Given the description of an element on the screen output the (x, y) to click on. 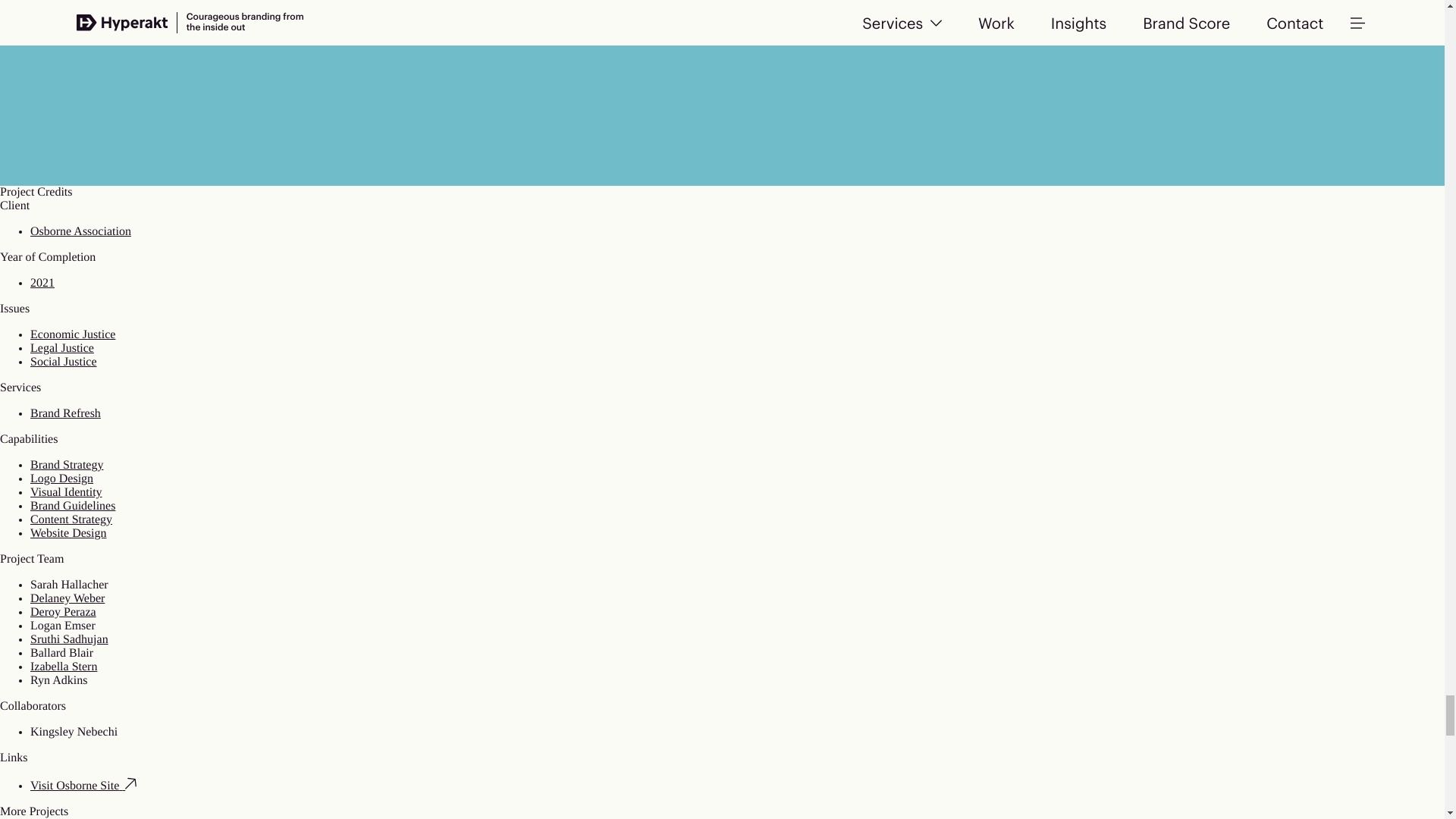
Brand Refresh (65, 413)
Economic Justice (72, 334)
Content Strategy (71, 519)
Social Justice (63, 361)
Osborne Association (80, 231)
Legal Justice (62, 348)
2021 (42, 282)
Brand Strategy (66, 464)
Logo Design (61, 478)
Brand Guidelines (72, 505)
